Given the description of an element on the screen output the (x, y) to click on. 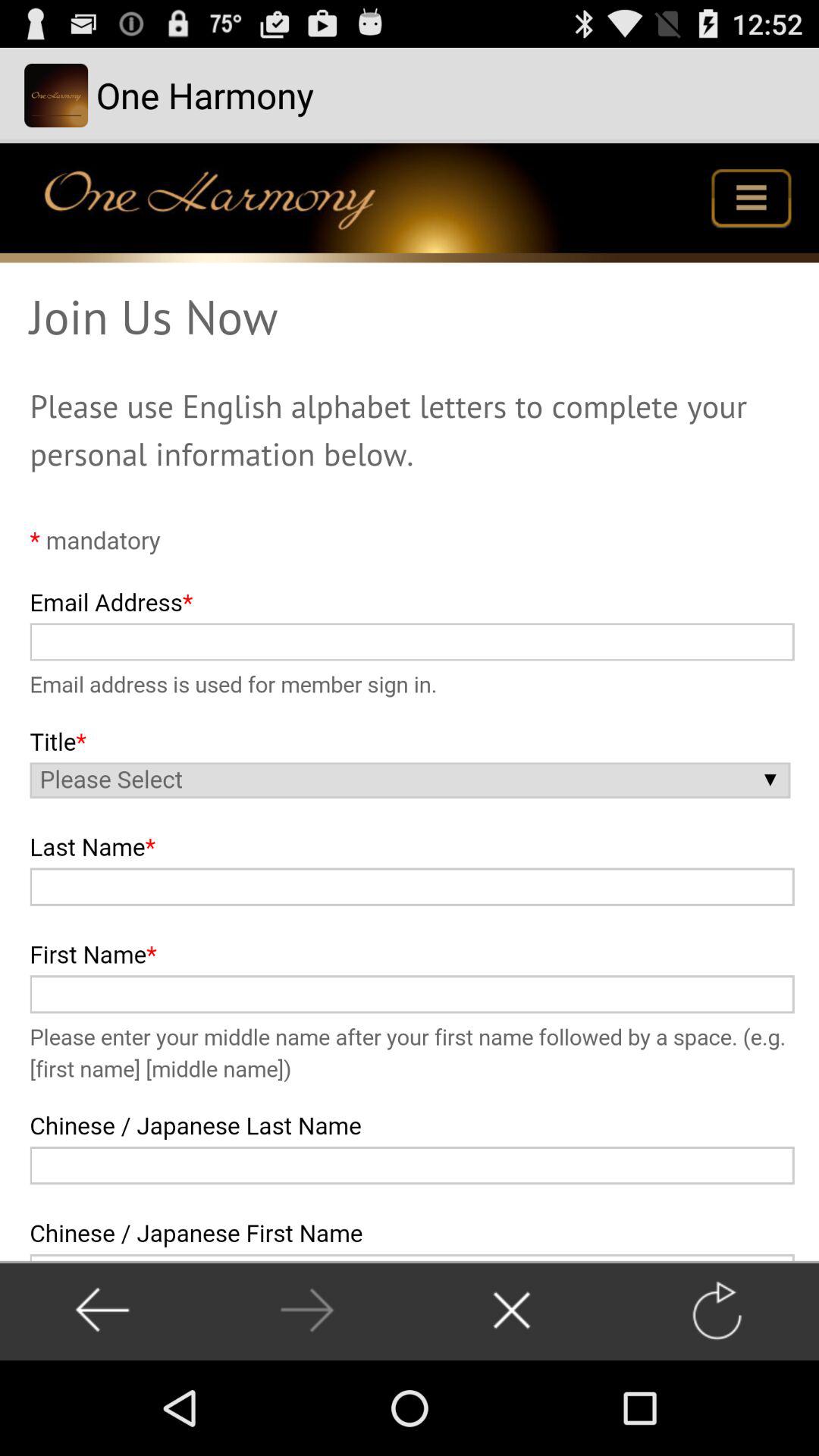
sign up form (409, 701)
